Given the description of an element on the screen output the (x, y) to click on. 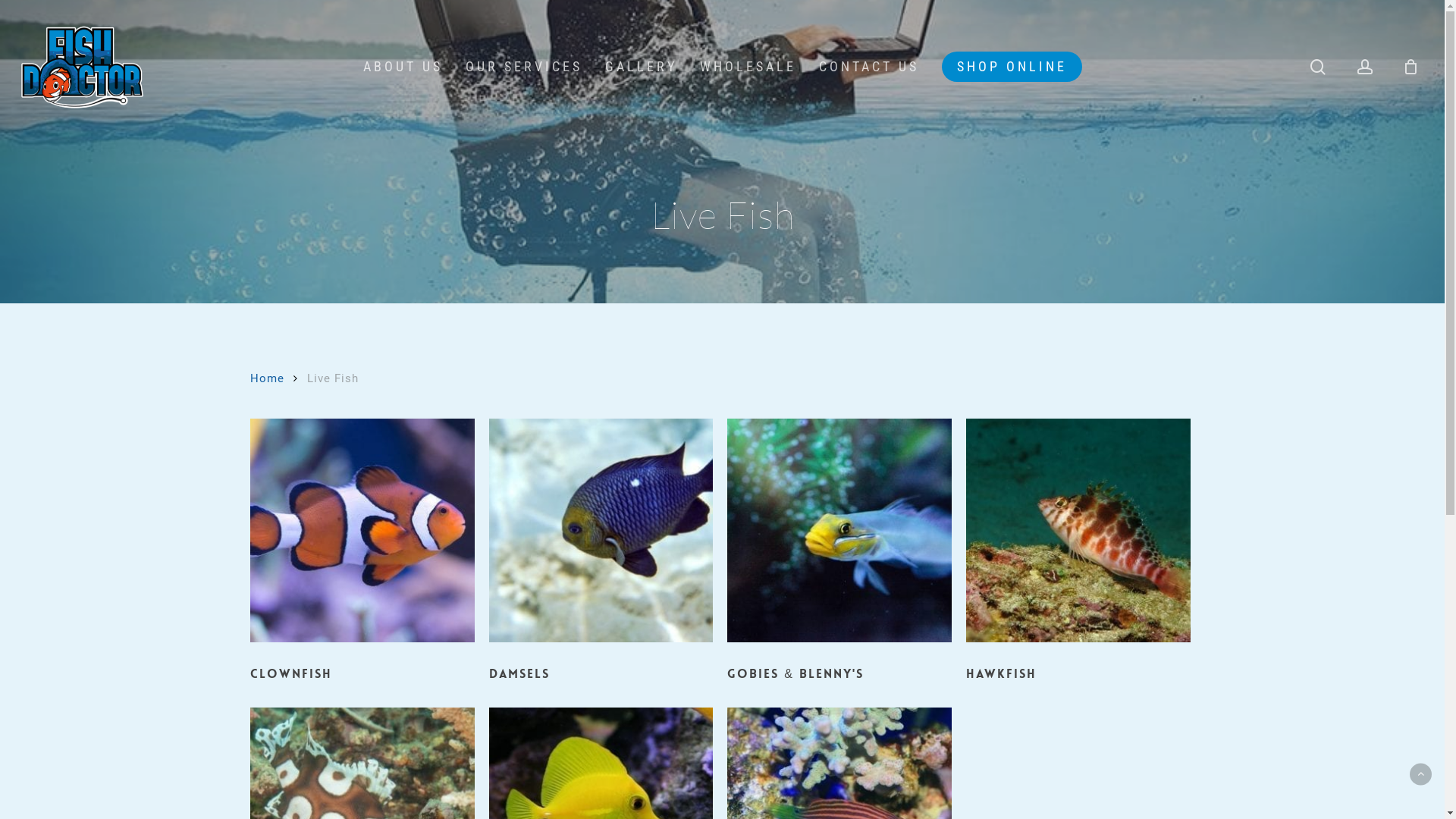
Home Element type: text (267, 377)
OUR SERVICES Element type: text (523, 66)
account Element type: text (1364, 67)
SHOP ONLINE Element type: text (1011, 66)
Hawkfish Element type: text (1078, 555)
GALLERY Element type: text (641, 66)
CONTACT US Element type: text (869, 66)
Damsels Element type: text (601, 555)
WHOLESALE Element type: text (747, 66)
Clownfish Element type: text (362, 555)
search Element type: text (1317, 67)
ABOUT US Element type: text (402, 66)
Gobies & Blenny's Element type: text (839, 555)
